Given the description of an element on the screen output the (x, y) to click on. 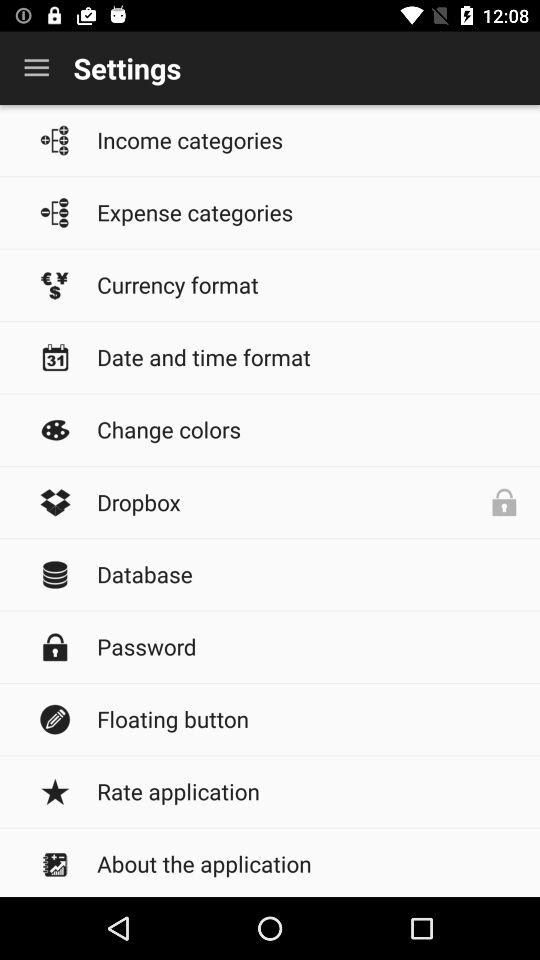
select item below the dropbox (308, 574)
